Given the description of an element on the screen output the (x, y) to click on. 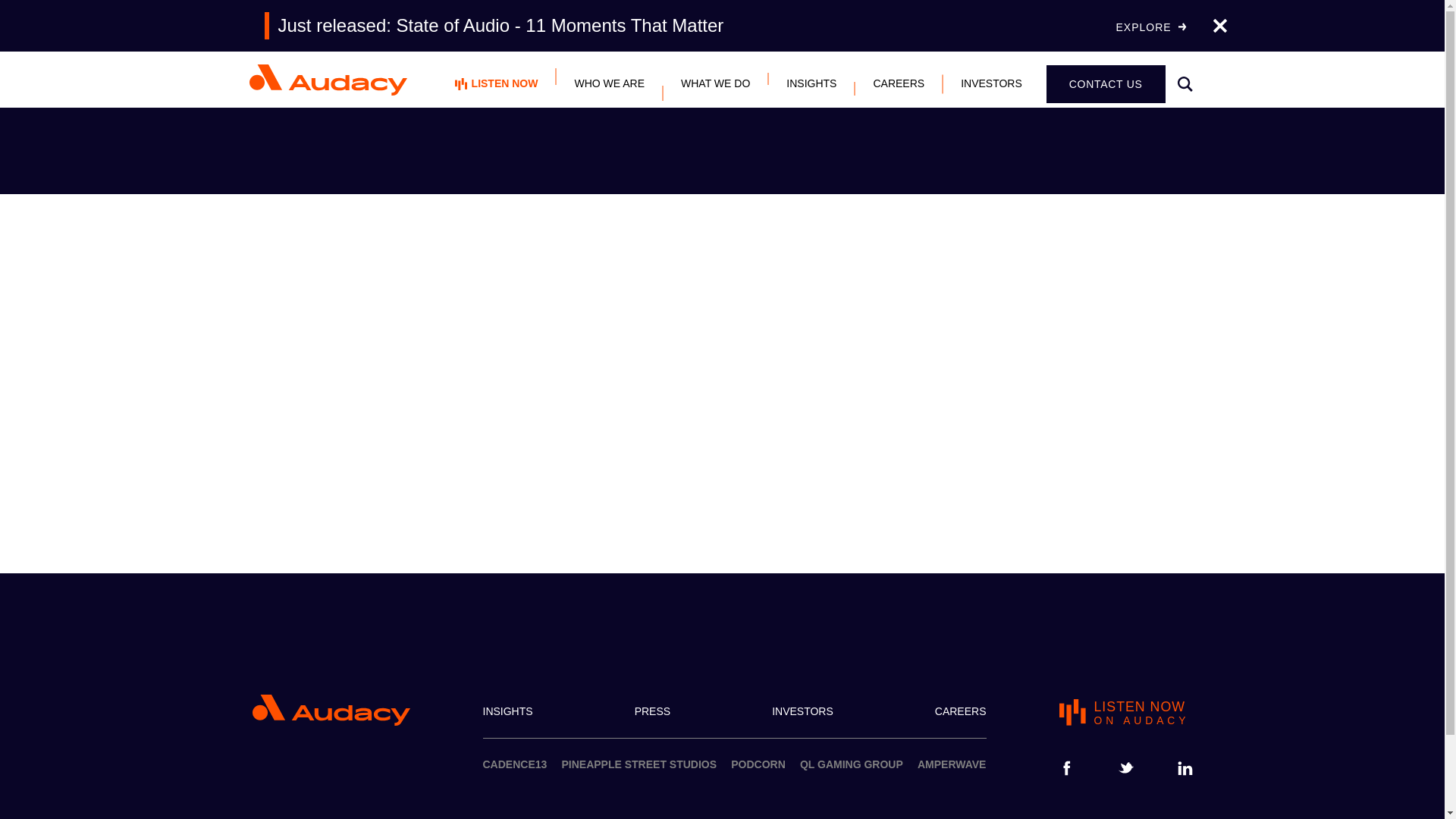
INVESTORS (801, 711)
INSIGHTS (506, 711)
CAREERS (898, 83)
EXPLORE (1150, 27)
LISTEN NOW (496, 83)
CAREERS (960, 711)
PRESS (651, 711)
CADENCE13 (514, 764)
PINEAPPLE STREET STUDIOS (638, 764)
PODCORN (758, 764)
INVESTORS (1125, 712)
CONTACT US (991, 83)
WHAT WE DO (1106, 84)
INSIGHTS (715, 83)
